Given the description of an element on the screen output the (x, y) to click on. 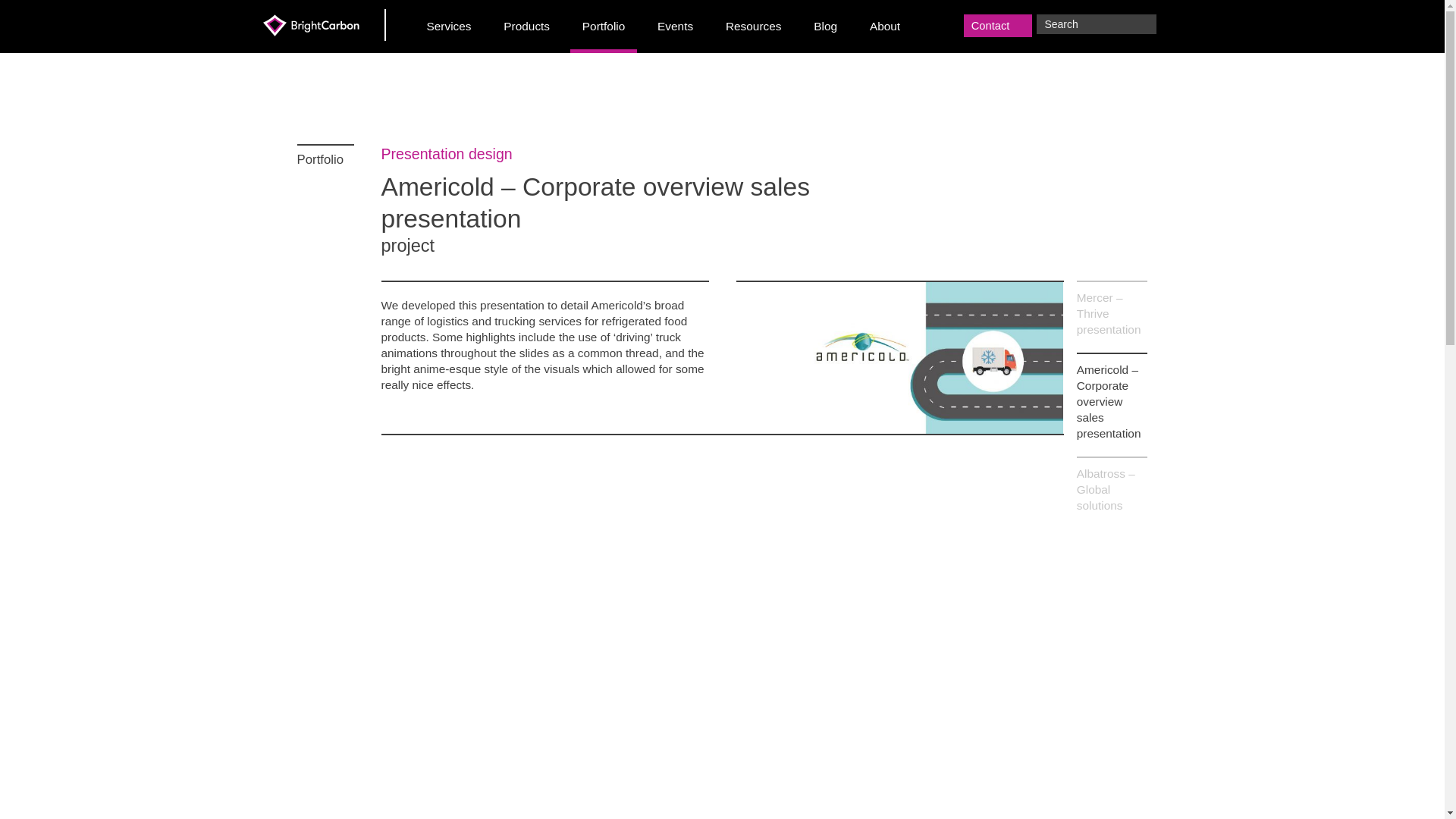
Products (527, 26)
Portfolio (603, 26)
Events (675, 26)
Resources (753, 26)
About (885, 26)
BrightCarbon (323, 24)
Services (448, 26)
Portfolio (325, 155)
Contact (997, 25)
